Given the description of an element on the screen output the (x, y) to click on. 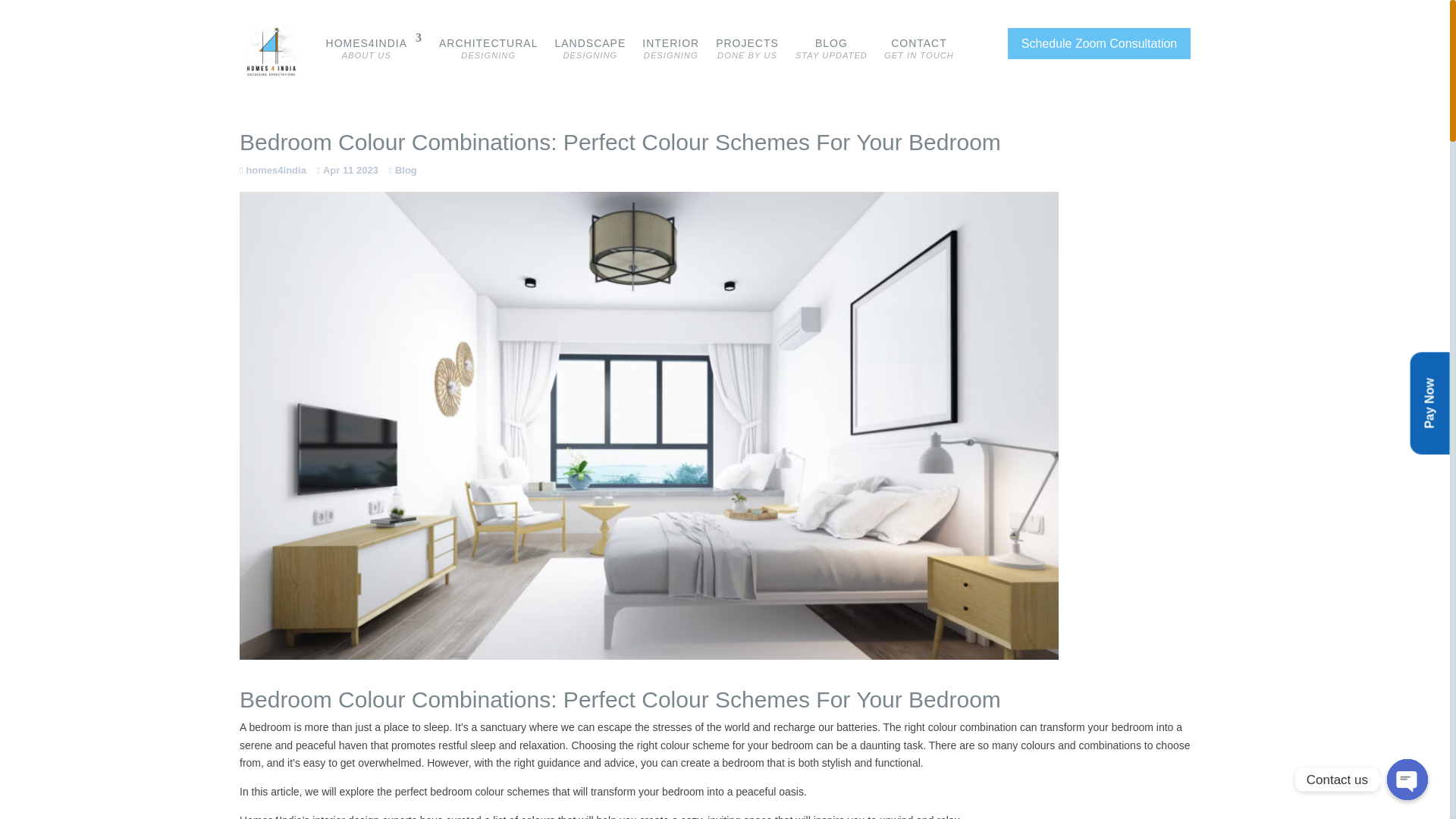
homes4india (272, 170)
Posts by homes4india (272, 170)
Schedule Zoom Consultation (1099, 42)
Blog (918, 50)
